Given the description of an element on the screen output the (x, y) to click on. 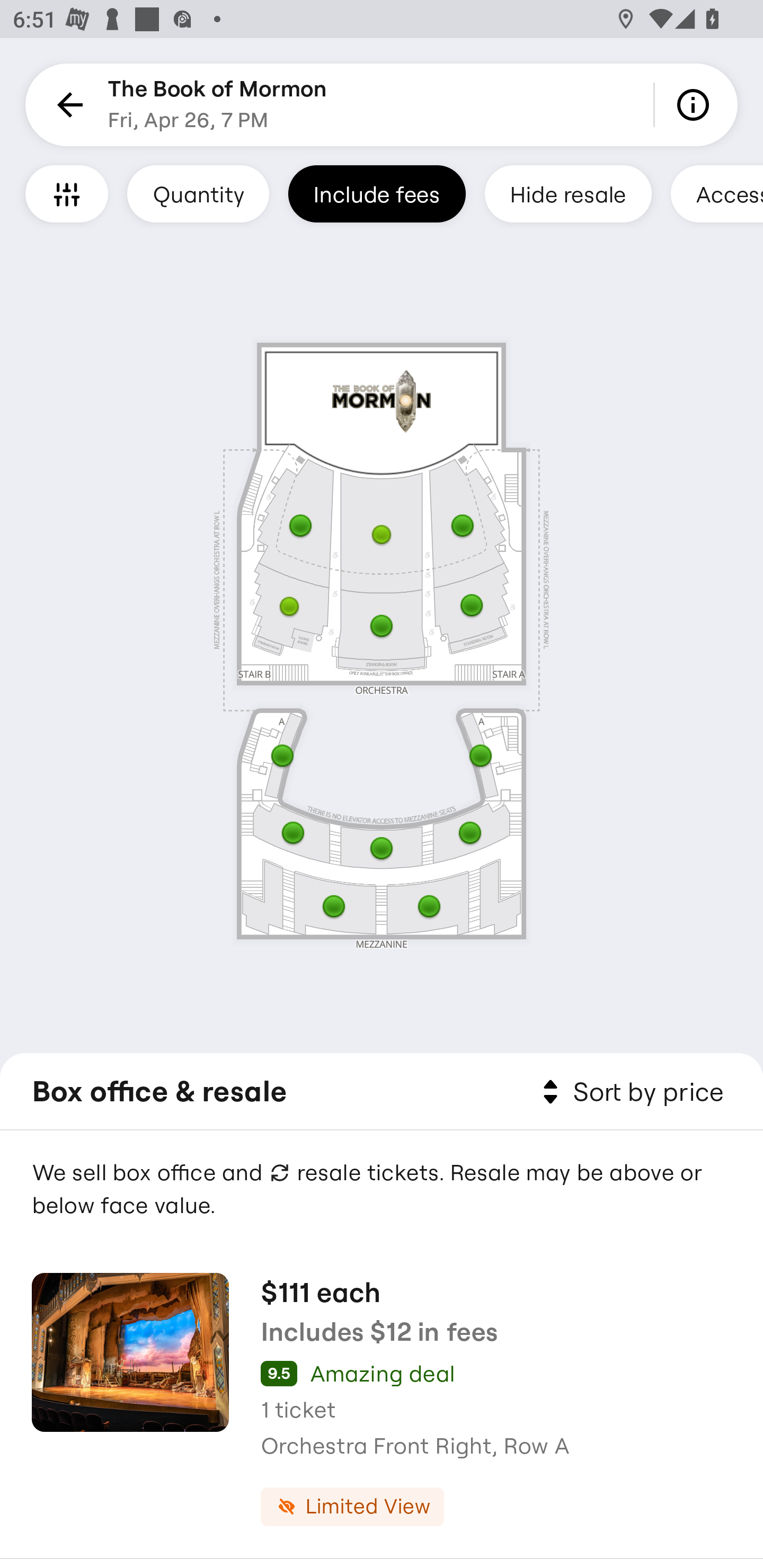
Back The Book of Mormon Fri, Apr 26, 7 PM Info (381, 104)
Back (66, 104)
The Book of Mormon Fri, Apr 26, 7 PM (217, 104)
Info (695, 104)
Filters and Accessible Seating (66, 193)
Quantity (198, 193)
Include fees (376, 193)
Hide resale (567, 193)
Access code (716, 193)
Sort by price (629, 1091)
